Given the description of an element on the screen output the (x, y) to click on. 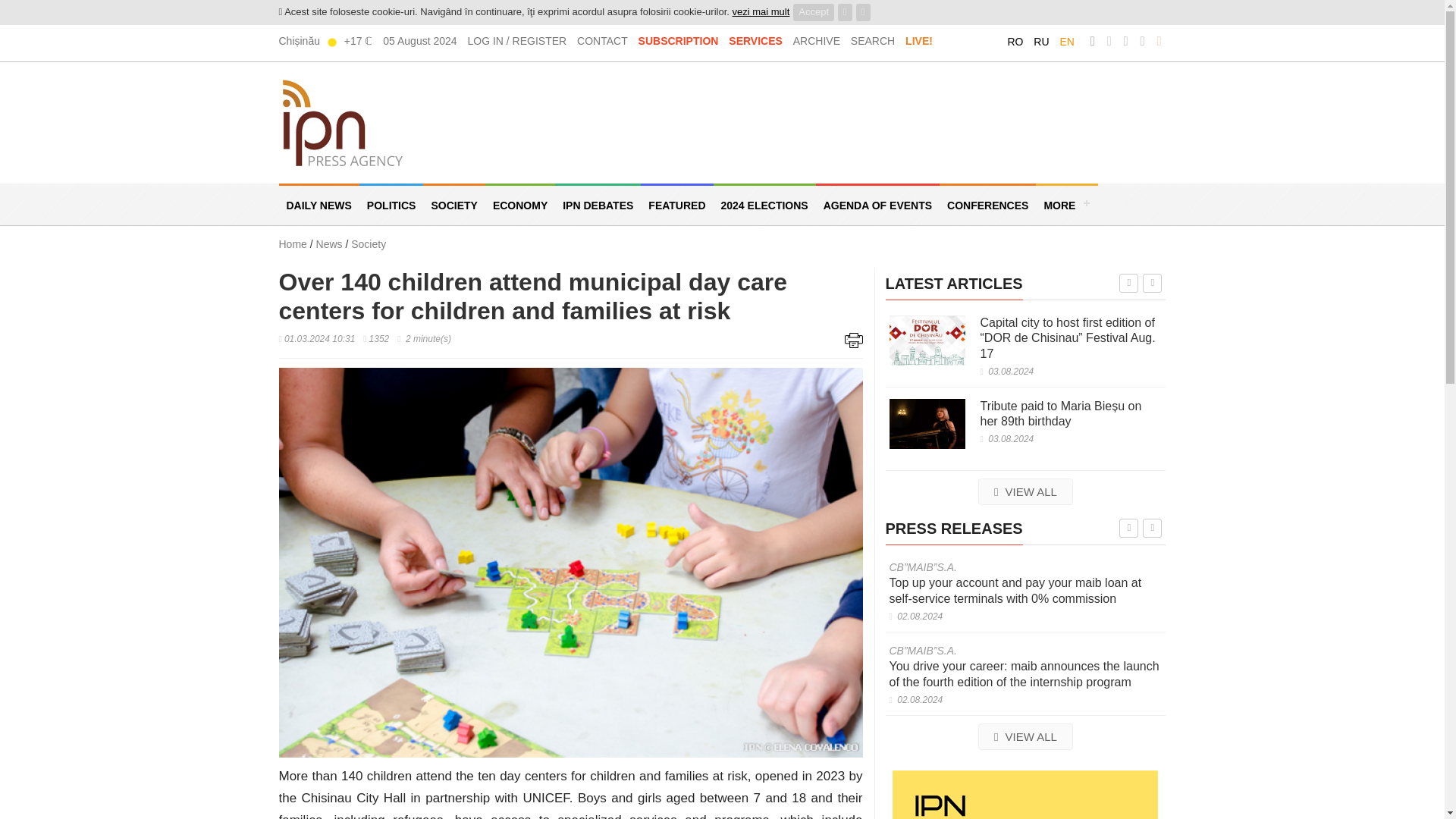
LIVE! (919, 41)
Home (293, 244)
SOCIETY (453, 204)
ECONOMY (519, 204)
facebook (1092, 41)
ARCHIVE (816, 41)
RU (1040, 41)
instagram (1125, 41)
POLITICS (391, 204)
SERVICES (756, 41)
